Given the description of an element on the screen output the (x, y) to click on. 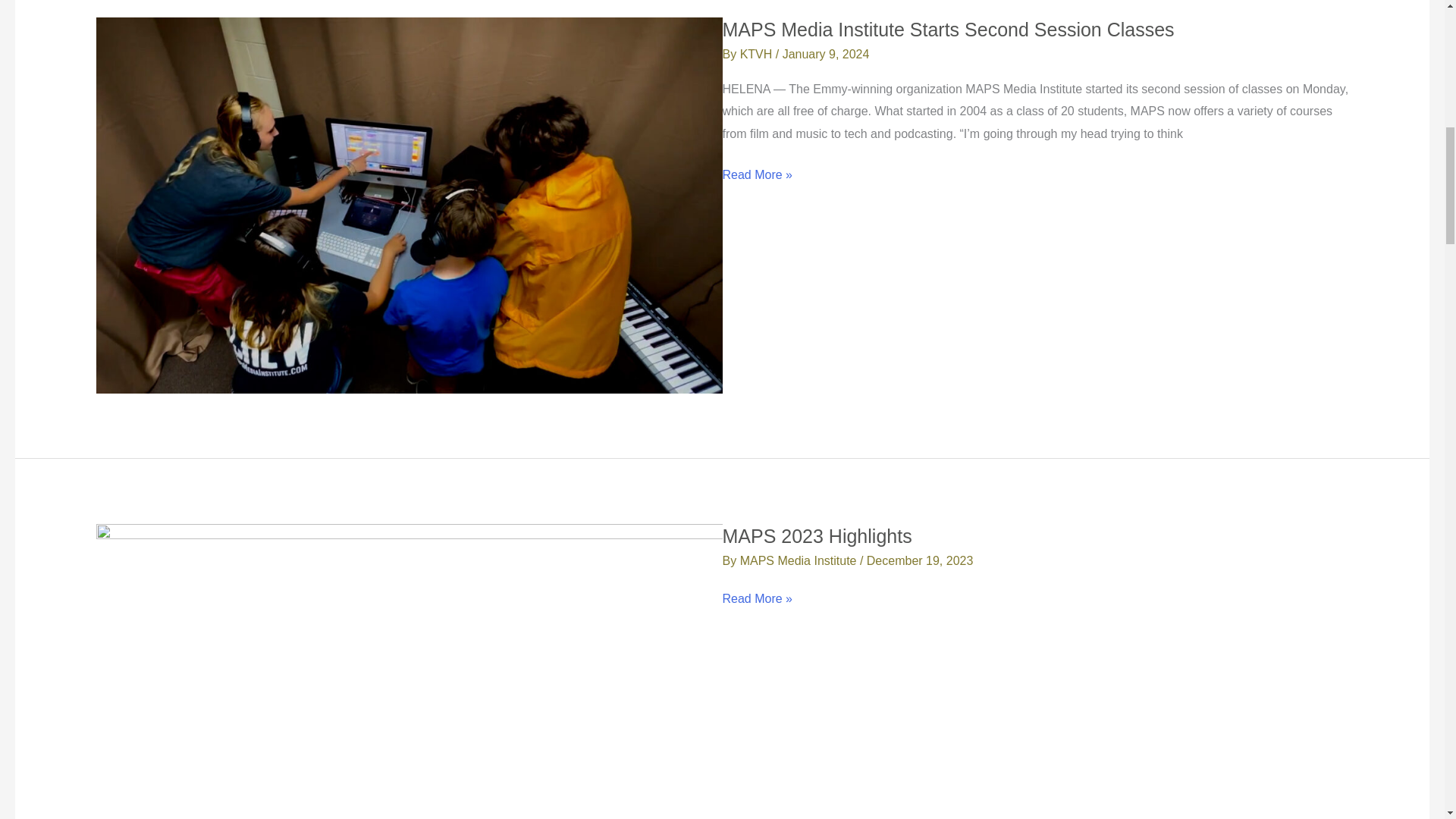
View all posts by KTVH (757, 53)
KTVH (757, 53)
MAPS 2023 Highlights (816, 536)
MAPS Media Institute Starts Second Session Classes (947, 29)
View all posts by MAPS Media Institute (799, 560)
MAPS Media Institute (799, 560)
